Given the description of an element on the screen output the (x, y) to click on. 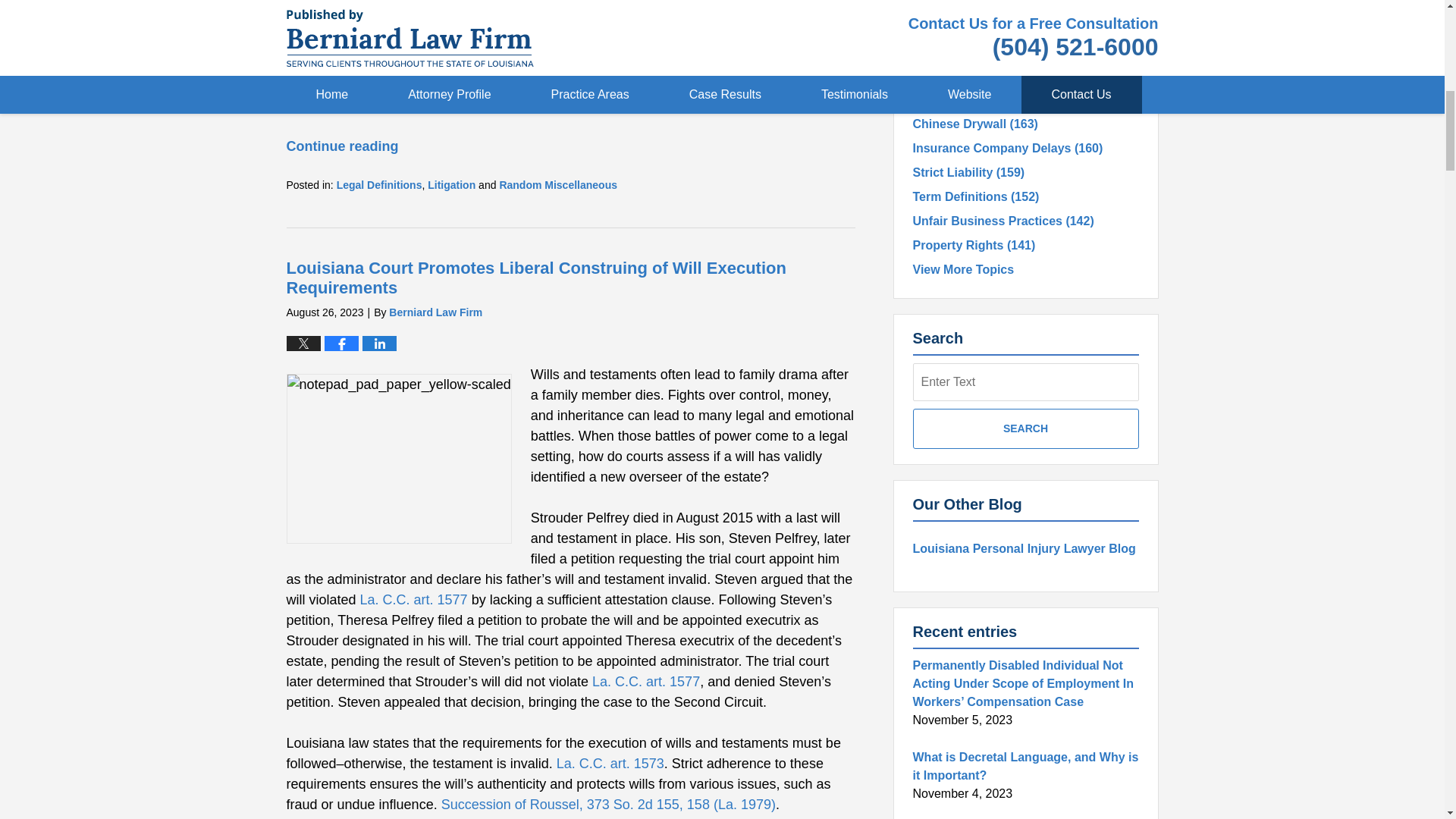
Random Miscellaneous (558, 184)
View all posts in Random Miscellaneous (558, 184)
View all posts in Legal Definitions (379, 184)
Continue reading (342, 145)
Berniard Law Firm (434, 312)
La. C.C. art. 1577 (646, 681)
Court of Appeals for the Fifth Circuit (487, 23)
Legal Definitions (379, 184)
Litigation (452, 184)
La. C.C. art. 1577 (413, 599)
La. C.C. art. 1573 (609, 763)
View all posts in Litigation (452, 184)
